Given the description of an element on the screen output the (x, y) to click on. 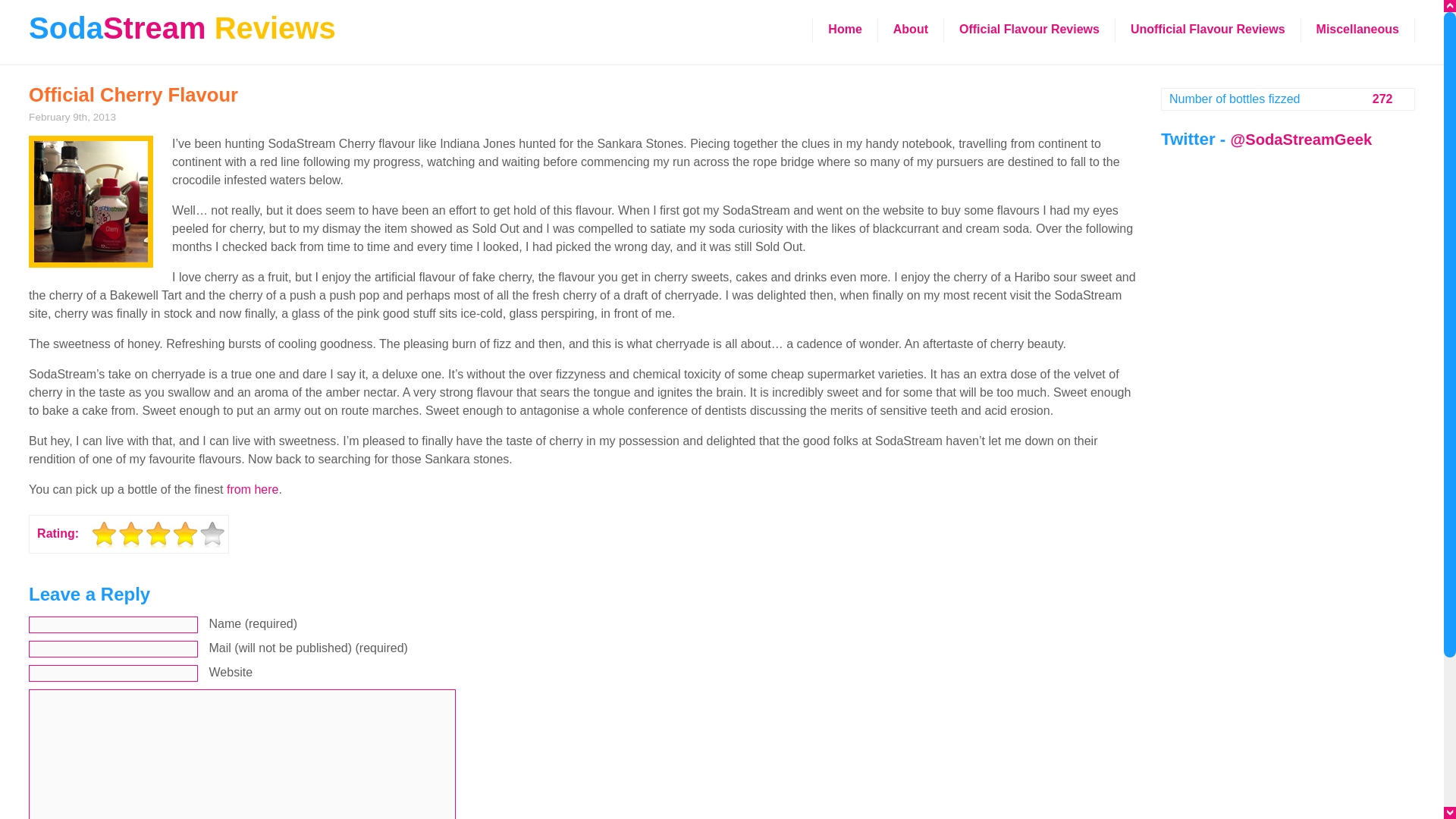
Miscellaneous (1357, 30)
SodaStream Reviews (182, 22)
Unofficial Flavour Reviews (1207, 30)
Official Flavour Reviews (1029, 30)
Home (844, 30)
About (910, 30)
